Given the description of an element on the screen output the (x, y) to click on. 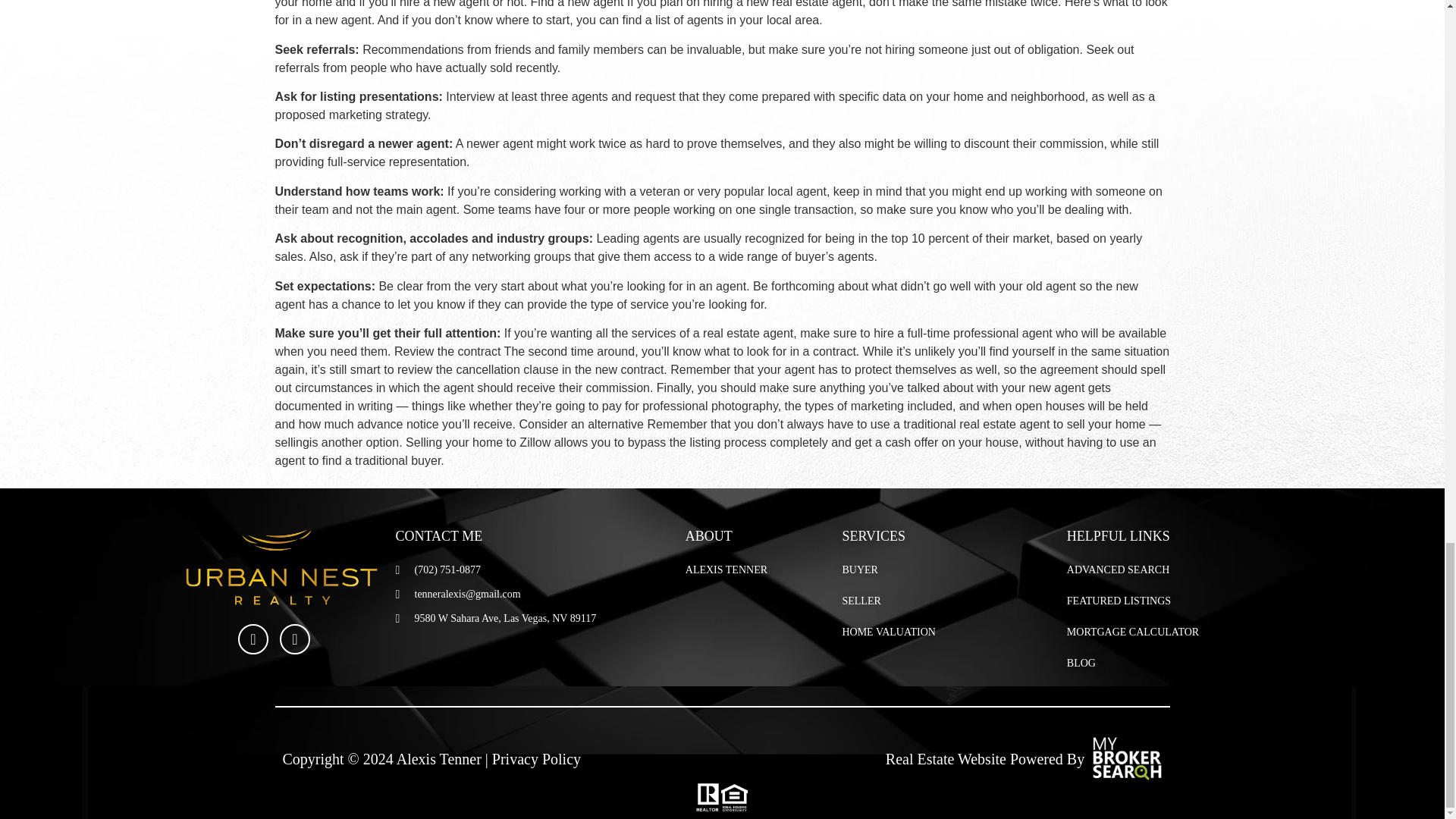
9580 W Sahara Ave, Las Vegas, NV 89117 (496, 618)
ALEXIS TENNER (726, 569)
SELLER (860, 600)
BUYER (859, 569)
